Given the description of an element on the screen output the (x, y) to click on. 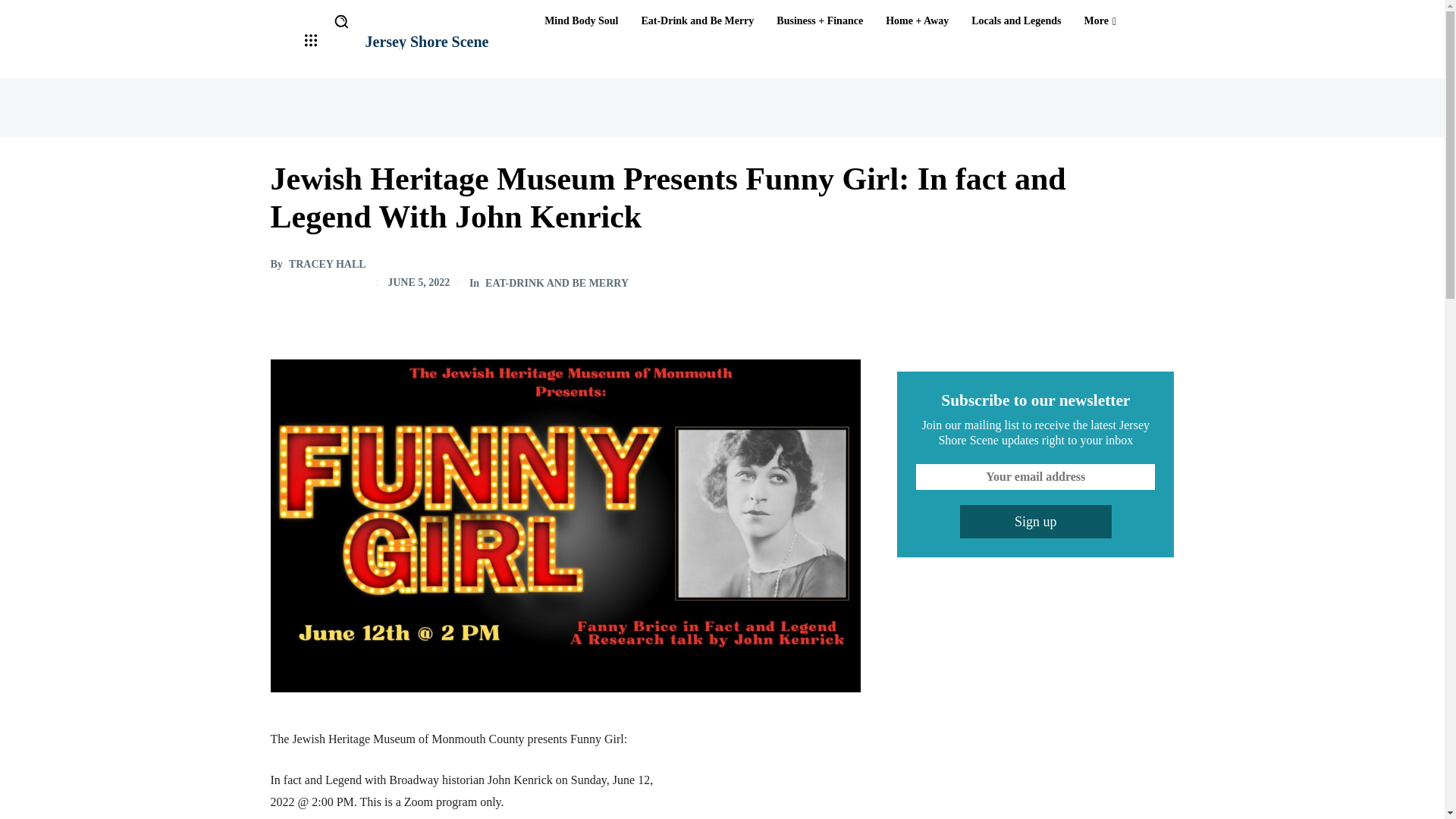
Locals and Legends (1015, 20)
Jersey Shore Scene (427, 41)
More (1100, 20)
Mind Body Soul (581, 20)
Eat-Drink and Be Merry (697, 20)
Sign up (1035, 521)
